Given the description of an element on the screen output the (x, y) to click on. 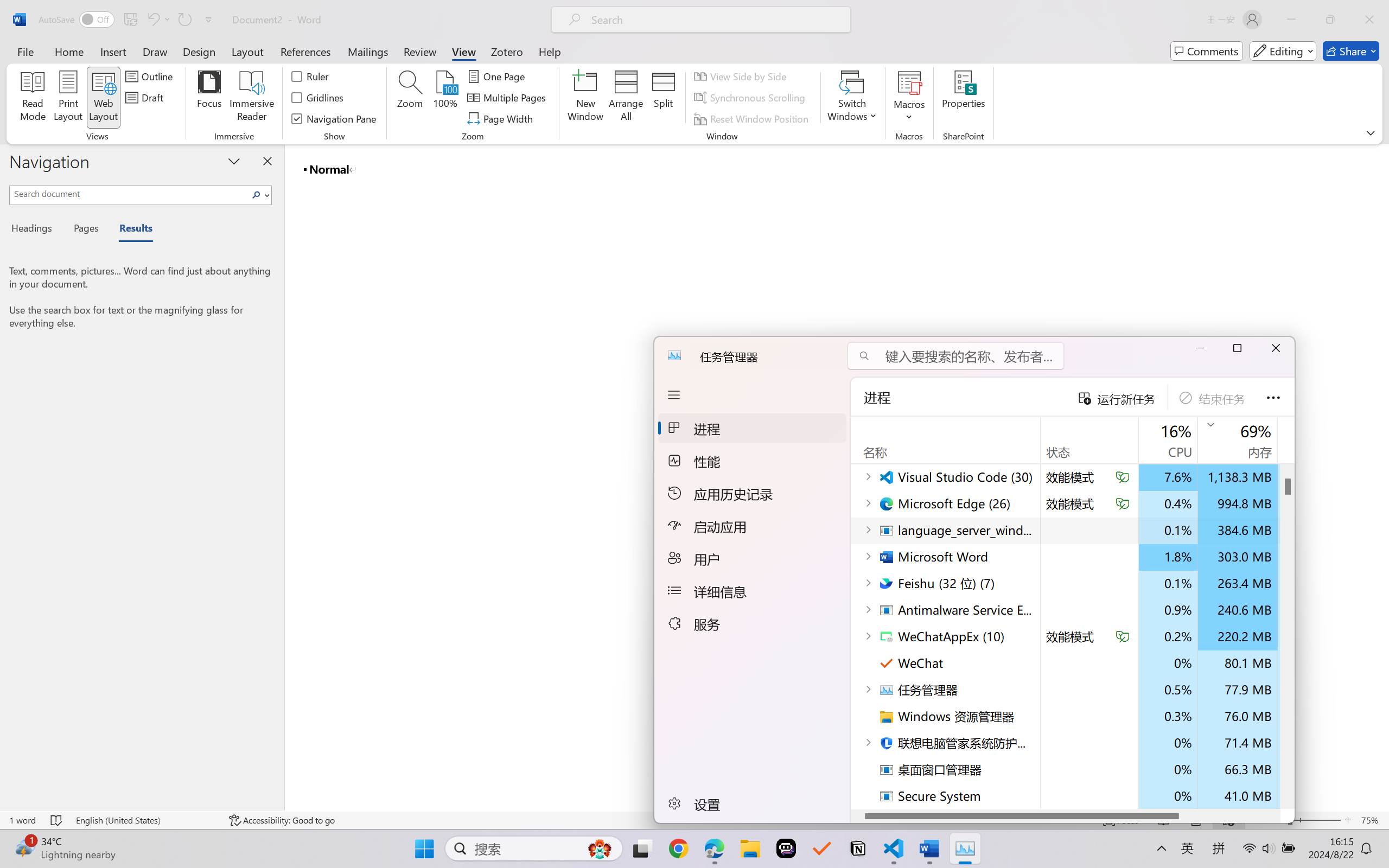
Immersive Reader (251, 97)
Class: MsoCommandBar (694, 72)
Synchronous Scrolling (751, 97)
Language English (United States) (144, 819)
Class: NetUIScrollBar (1382, 477)
